Given the description of an element on the screen output the (x, y) to click on. 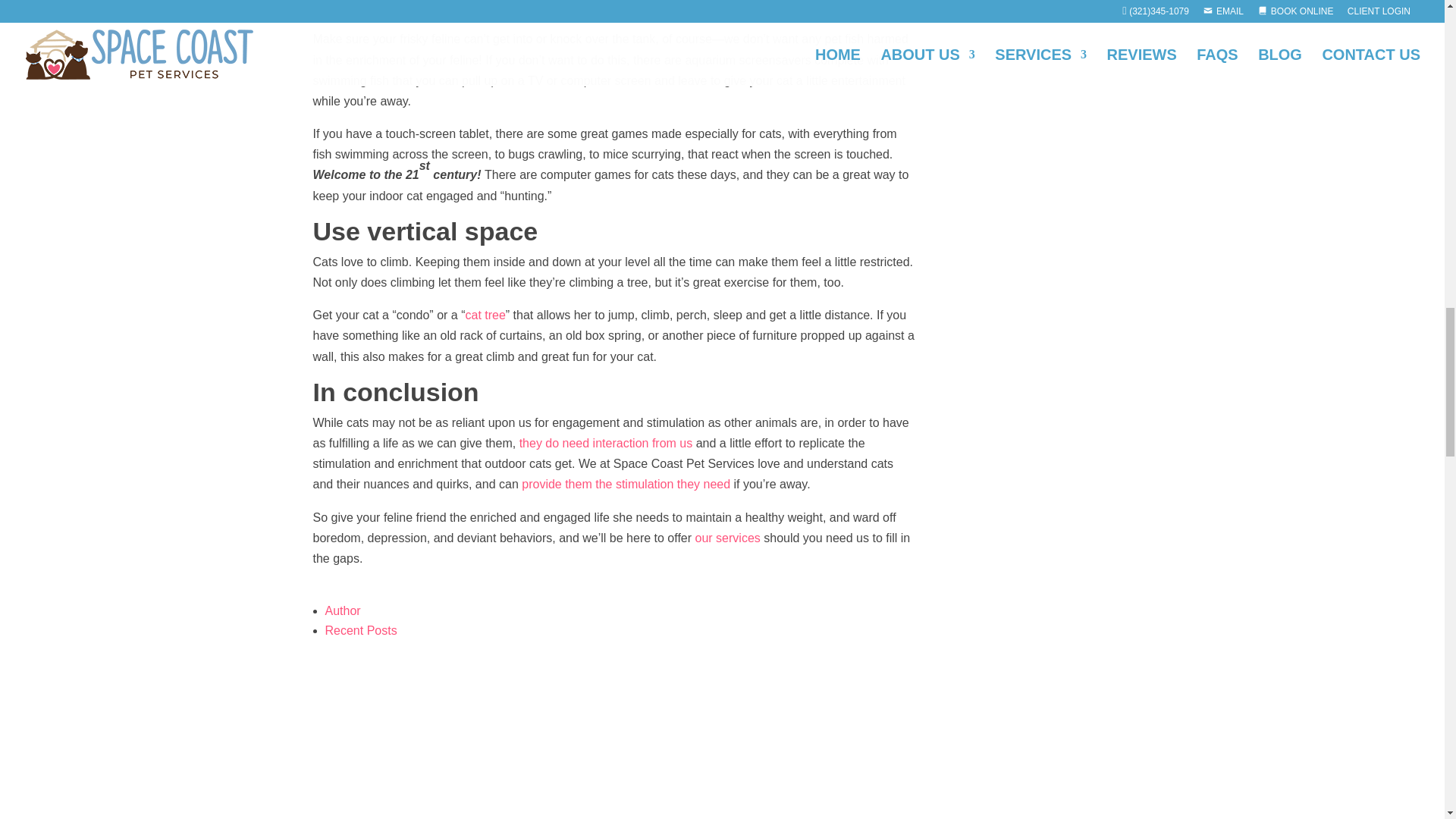
Author (341, 610)
Recent Posts (360, 630)
provide them the stimulation they need (625, 483)
small fish tank (399, 6)
they do need interaction from us (606, 442)
our services (727, 537)
cat tree (484, 314)
